Given the description of an element on the screen output the (x, y) to click on. 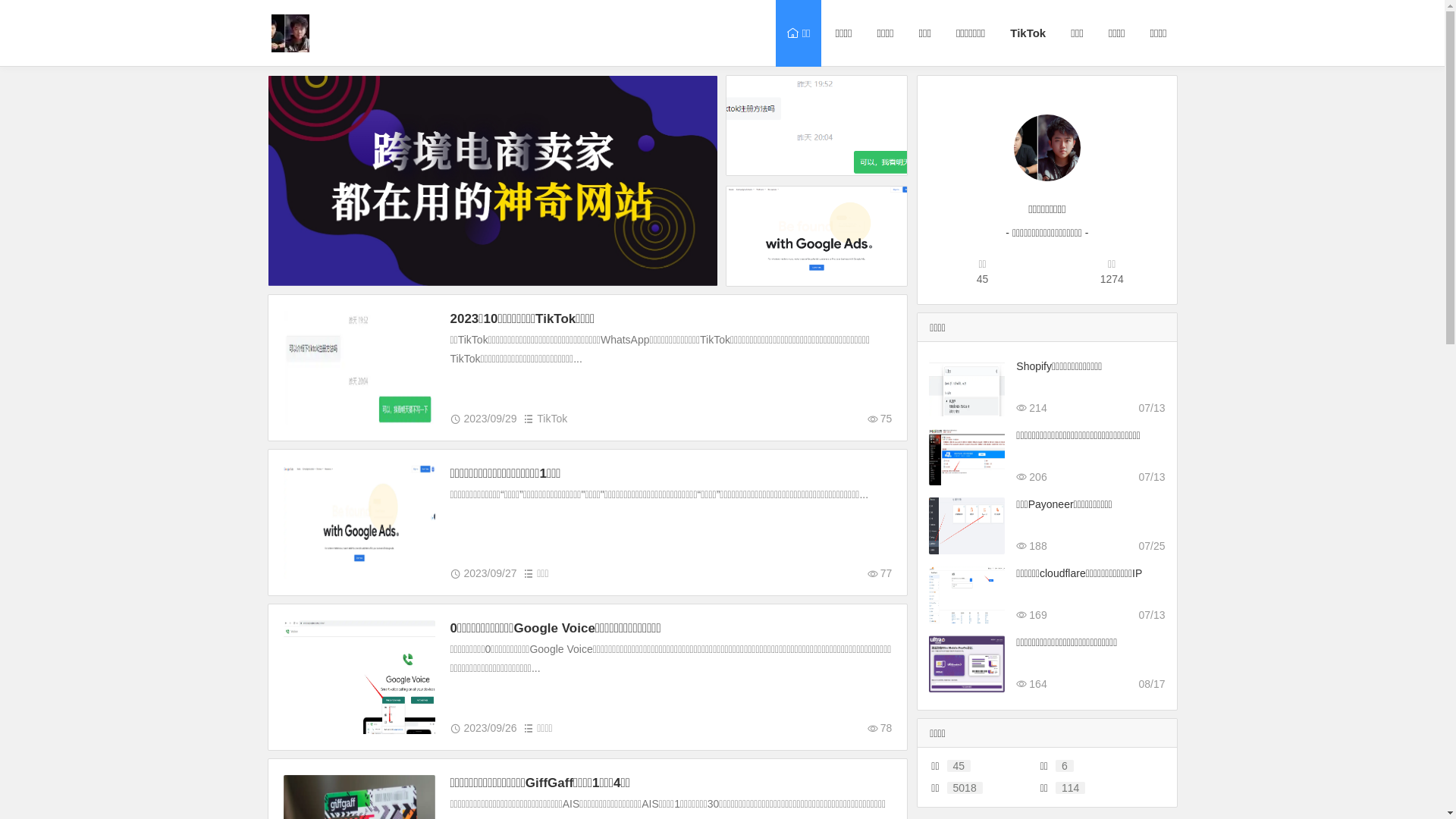
TikTok Element type: text (551, 418)
TikTok Element type: text (1025, 33)
